Given the description of an element on the screen output the (x, y) to click on. 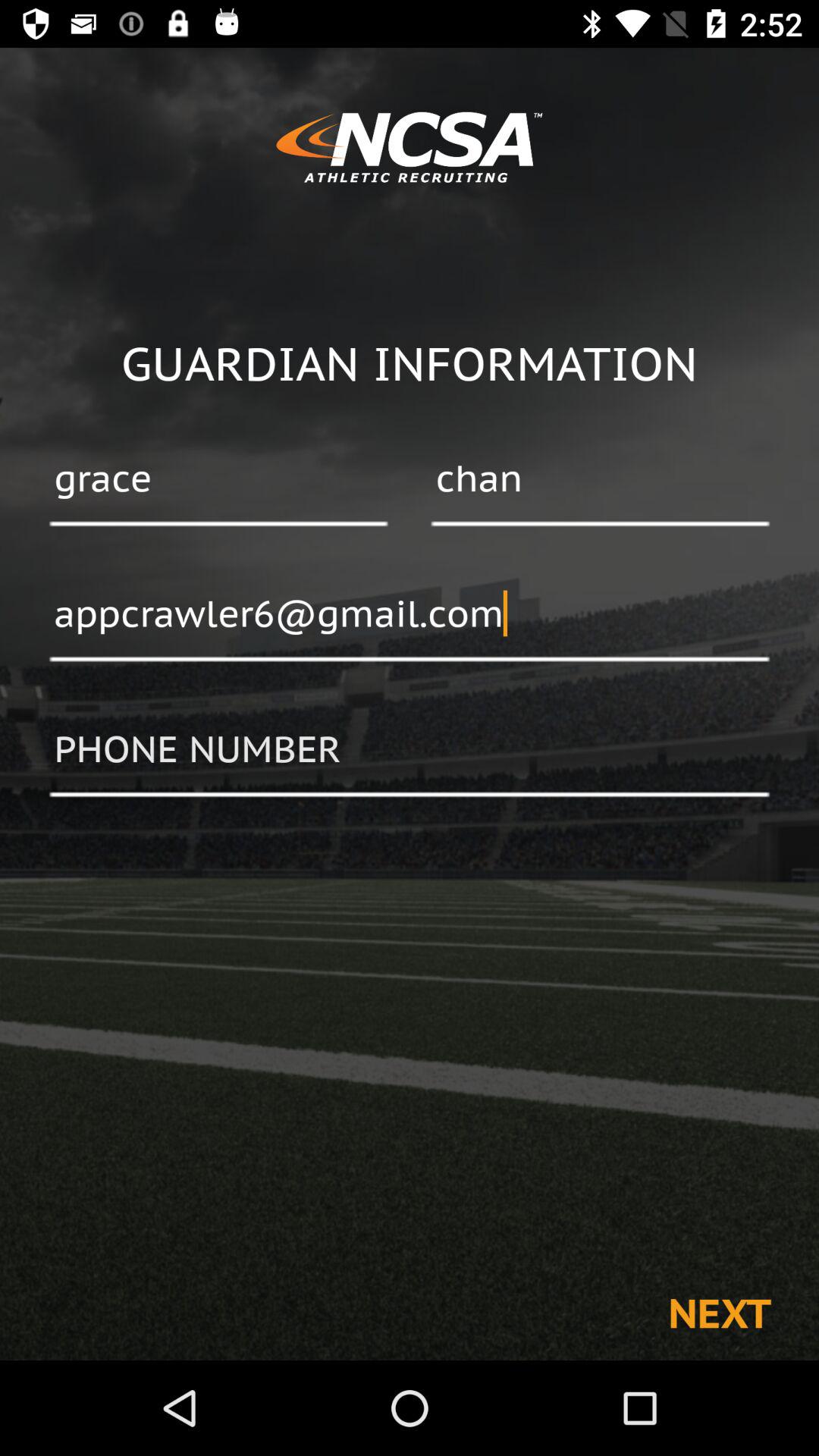
turn on item at the top right corner (600, 479)
